Given the description of an element on the screen output the (x, y) to click on. 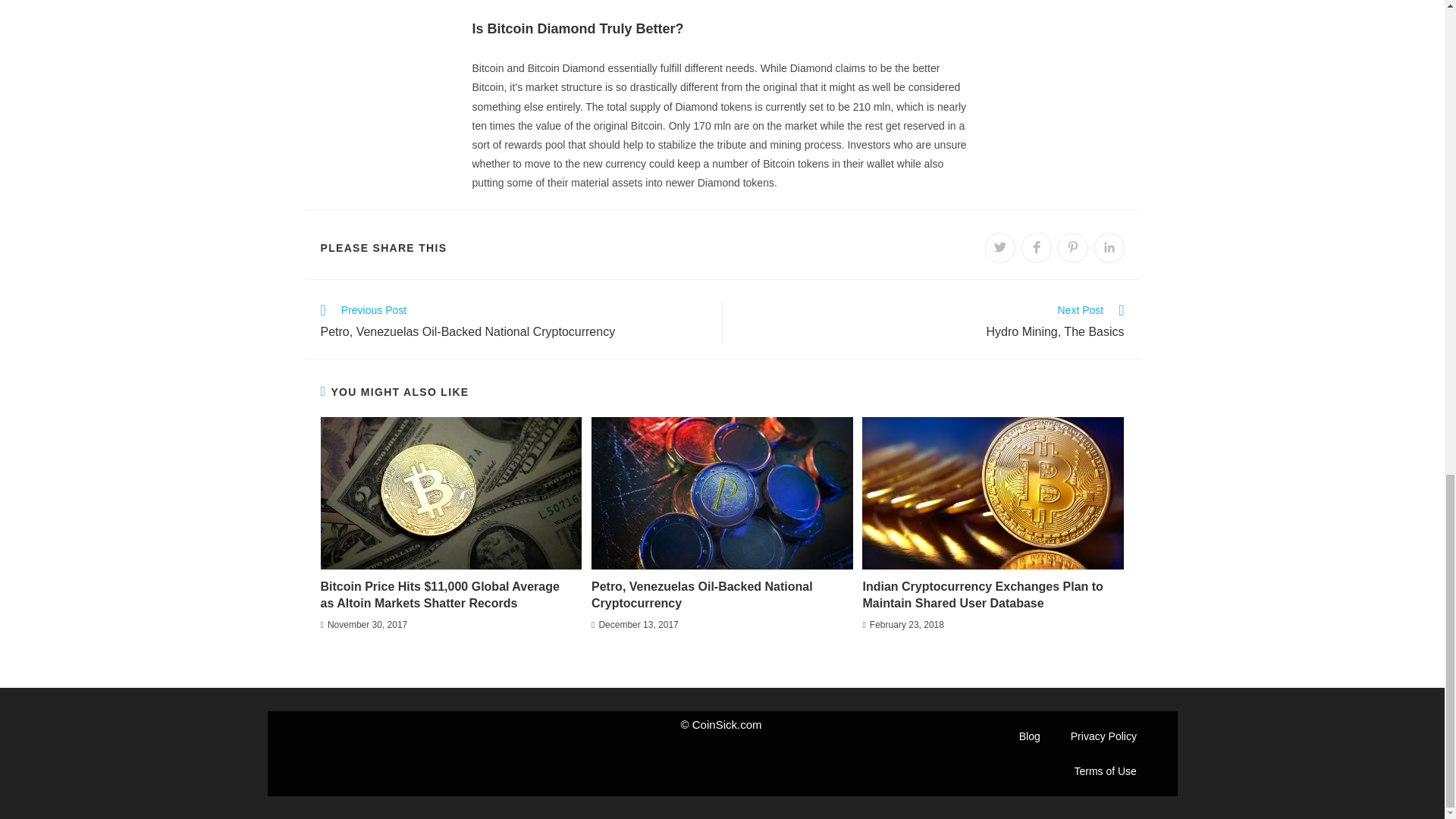
Terms of Use (1104, 770)
Petro, Venezuelas Oil-Backed National Cryptocurrency (717, 595)
Privacy Policy (1103, 736)
Blog (1029, 736)
Petro, Venezuelas Oil-Backed National Cryptocurrency (717, 595)
